Given the description of an element on the screen output the (x, y) to click on. 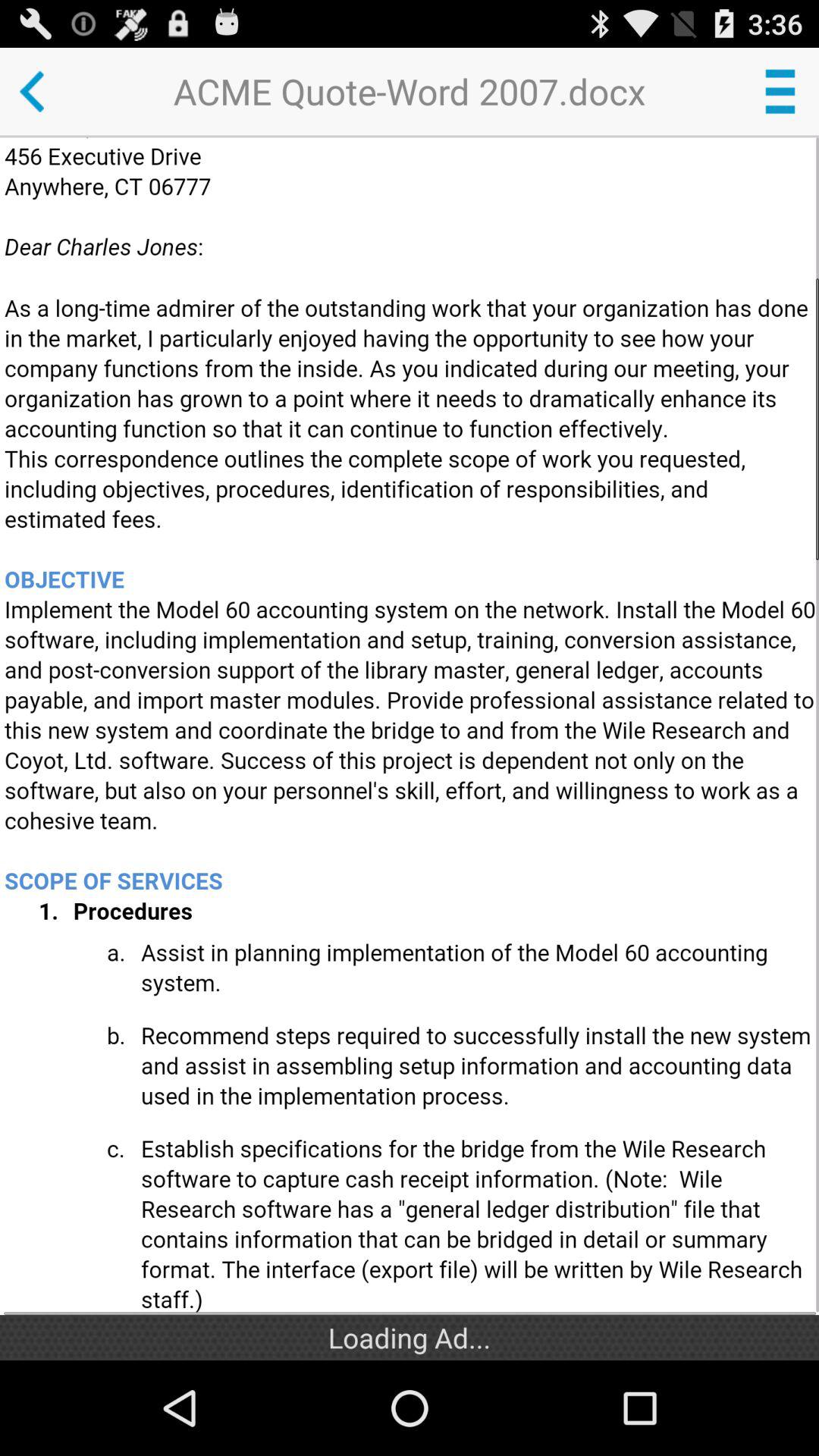
open menu (779, 91)
